Given the description of an element on the screen output the (x, y) to click on. 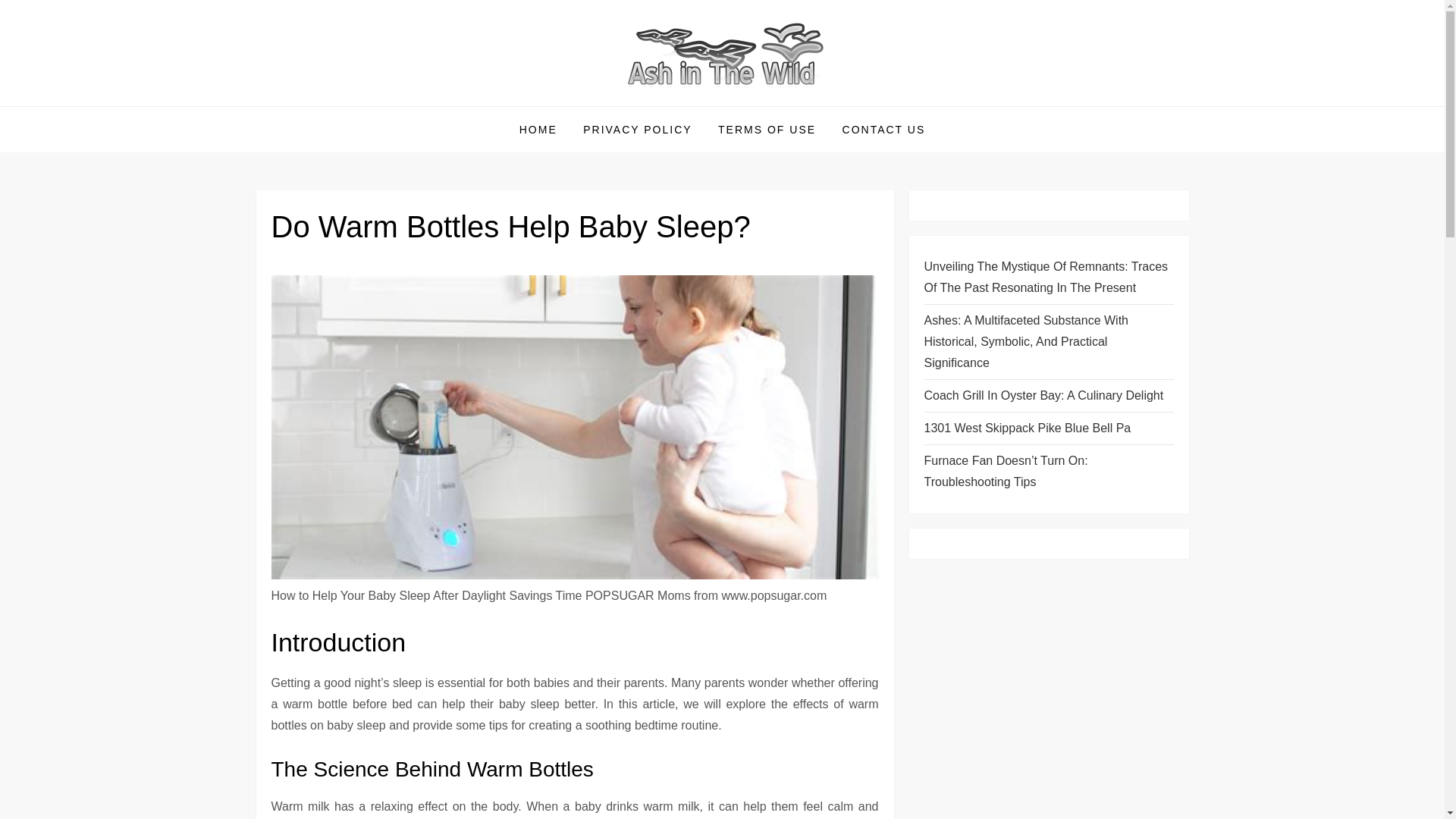
Ash in The Wild (361, 105)
PRIVACY POLICY (637, 129)
CONTACT US (884, 129)
TERMS OF USE (766, 129)
1301 West Skippack Pike Blue Bell Pa (1027, 427)
HOME (538, 129)
Coach Grill In Oyster Bay: A Culinary Delight (1043, 395)
